Given the description of an element on the screen output the (x, y) to click on. 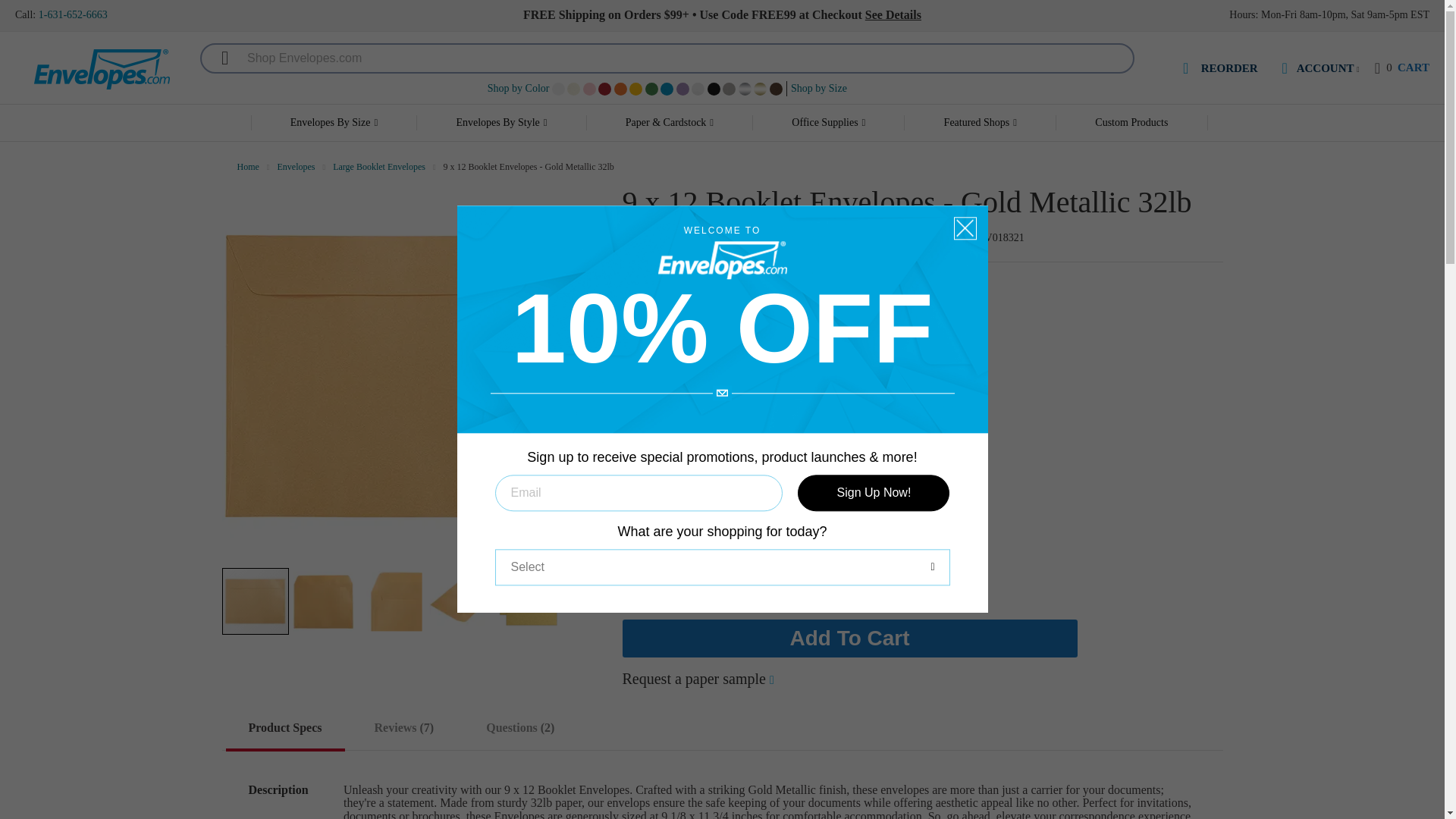
Shop by Size (818, 88)
Paper Sample (697, 678)
1-631-652-6663 (73, 14)
1 (665, 471)
Envelopes By Size (333, 122)
Search (217, 57)
Quantity (665, 471)
Search (217, 57)
REORDER (1217, 69)
Reorder (1401, 68)
Add to Cart (1217, 69)
Shop by Color (849, 638)
Sign Up Now! (518, 88)
